Given the description of an element on the screen output the (x, y) to click on. 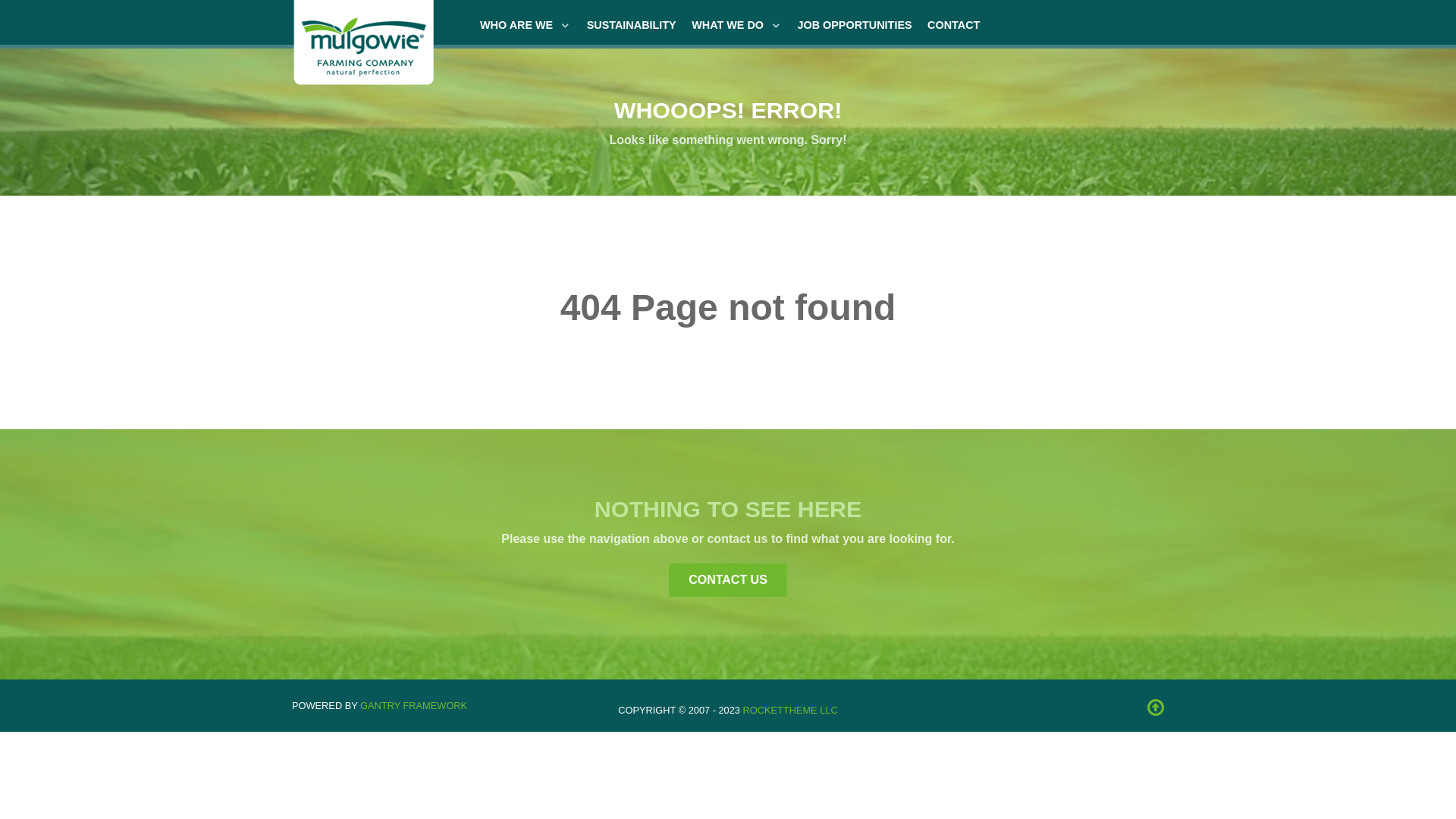
ROCKETTHEME LLC Element type: text (790, 709)
NOTHING TO SEE HERE Element type: text (727, 508)
WHO ARE WE Element type: text (525, 24)
Isotope. Element type: hover (363, 45)
GANTRY FRAMEWORK Element type: text (413, 705)
SUSTAINABILITY Element type: text (631, 24)
CONTACT US Element type: text (727, 579)
JOB OPPORTUNITIES Element type: text (854, 24)
CONTACT Element type: text (953, 24)
